Given the description of an element on the screen output the (x, y) to click on. 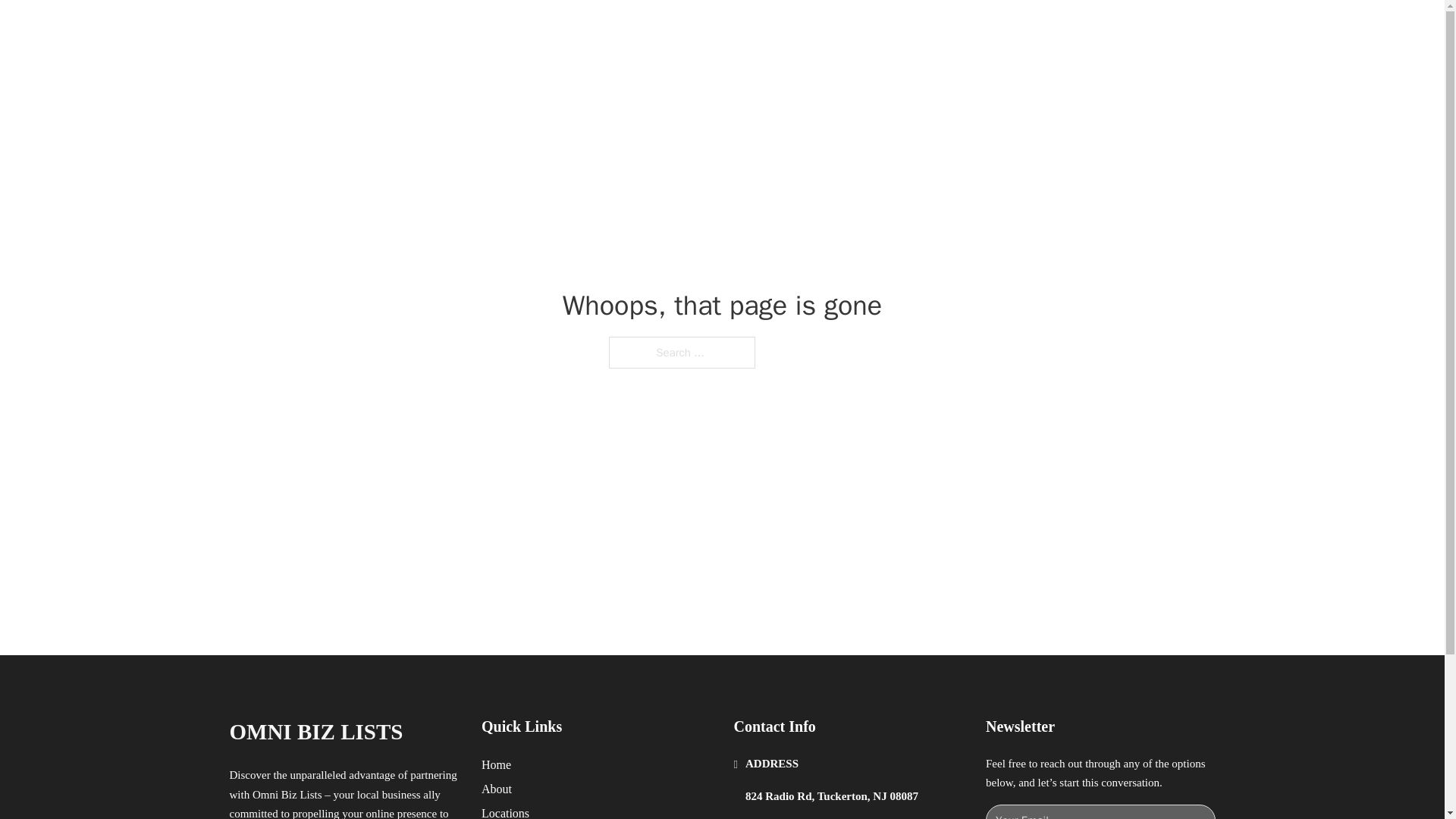
Locations (505, 811)
HOME (919, 29)
OMNI BIZ LISTS (315, 732)
LOCATIONS (990, 29)
OMNI BIZ LISTS (390, 28)
About (496, 788)
Home (496, 764)
